Given the description of an element on the screen output the (x, y) to click on. 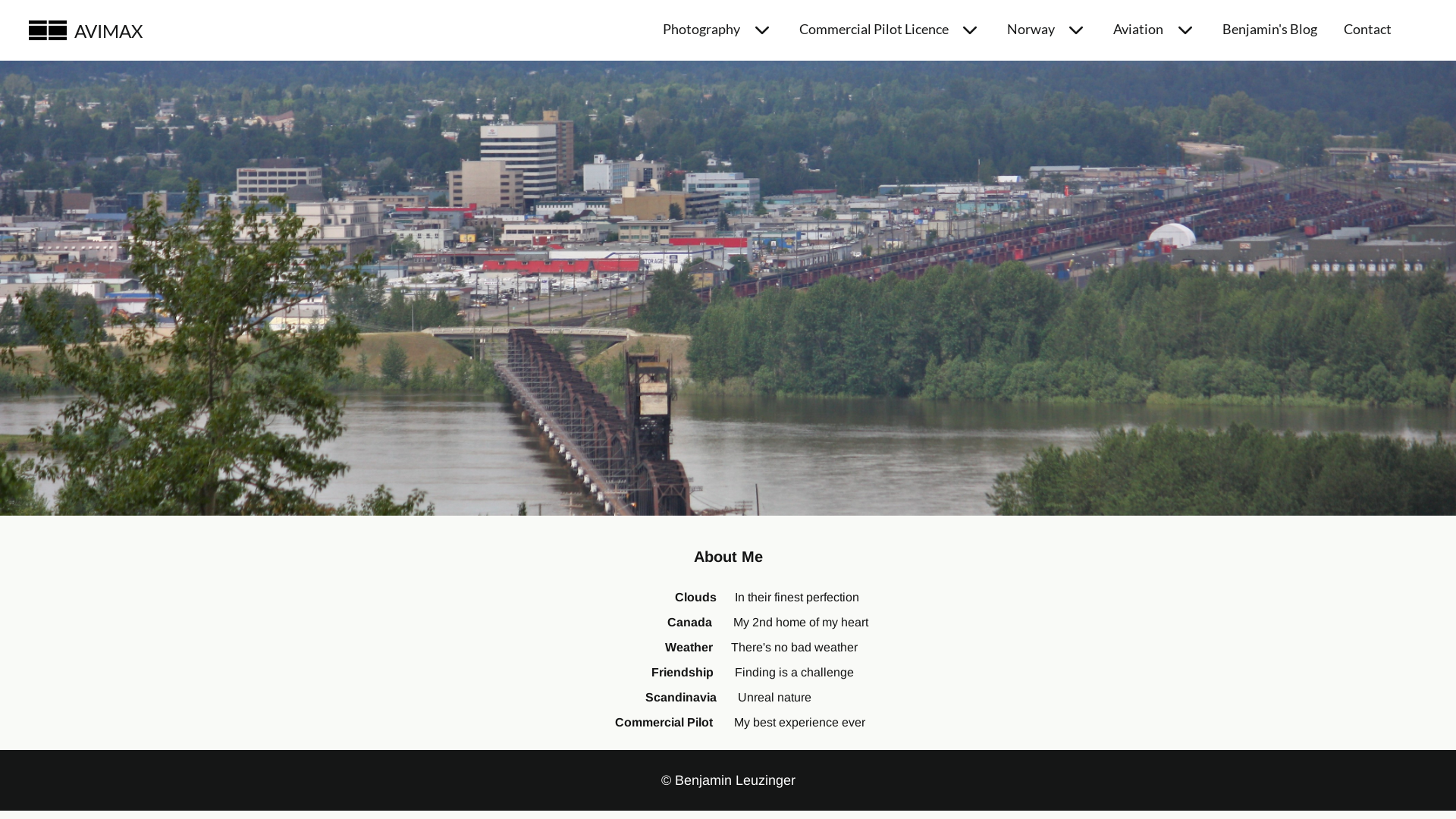
AVIMAX Element type: hover (47, 30)
AVIMAX Element type: text (108, 30)
Benjamin's Blog Element type: text (1269, 28)
Contact Element type: text (1367, 28)
